Given the description of an element on the screen output the (x, y) to click on. 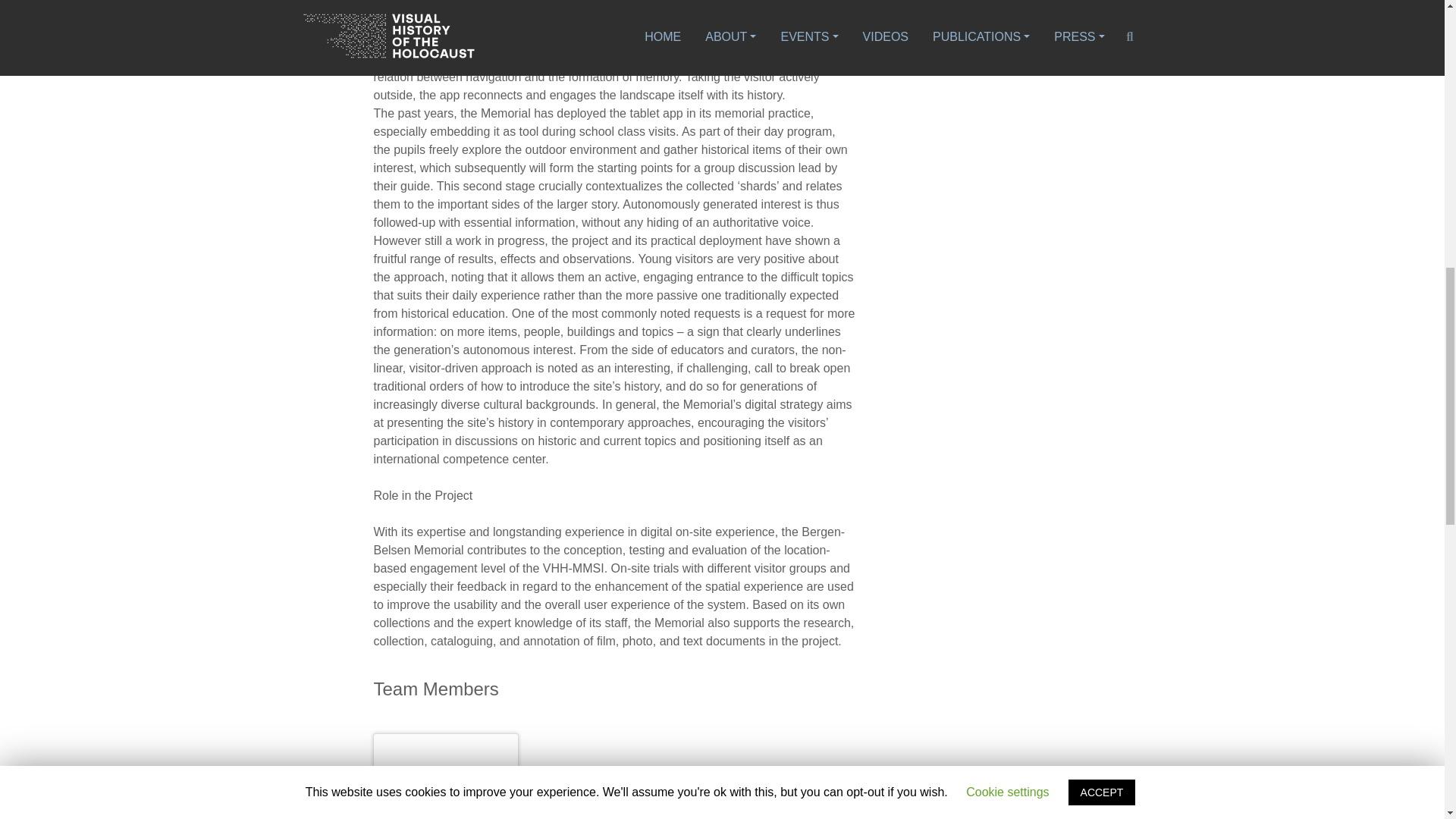
Stephanie Billib (445, 776)
